Given the description of an element on the screen output the (x, y) to click on. 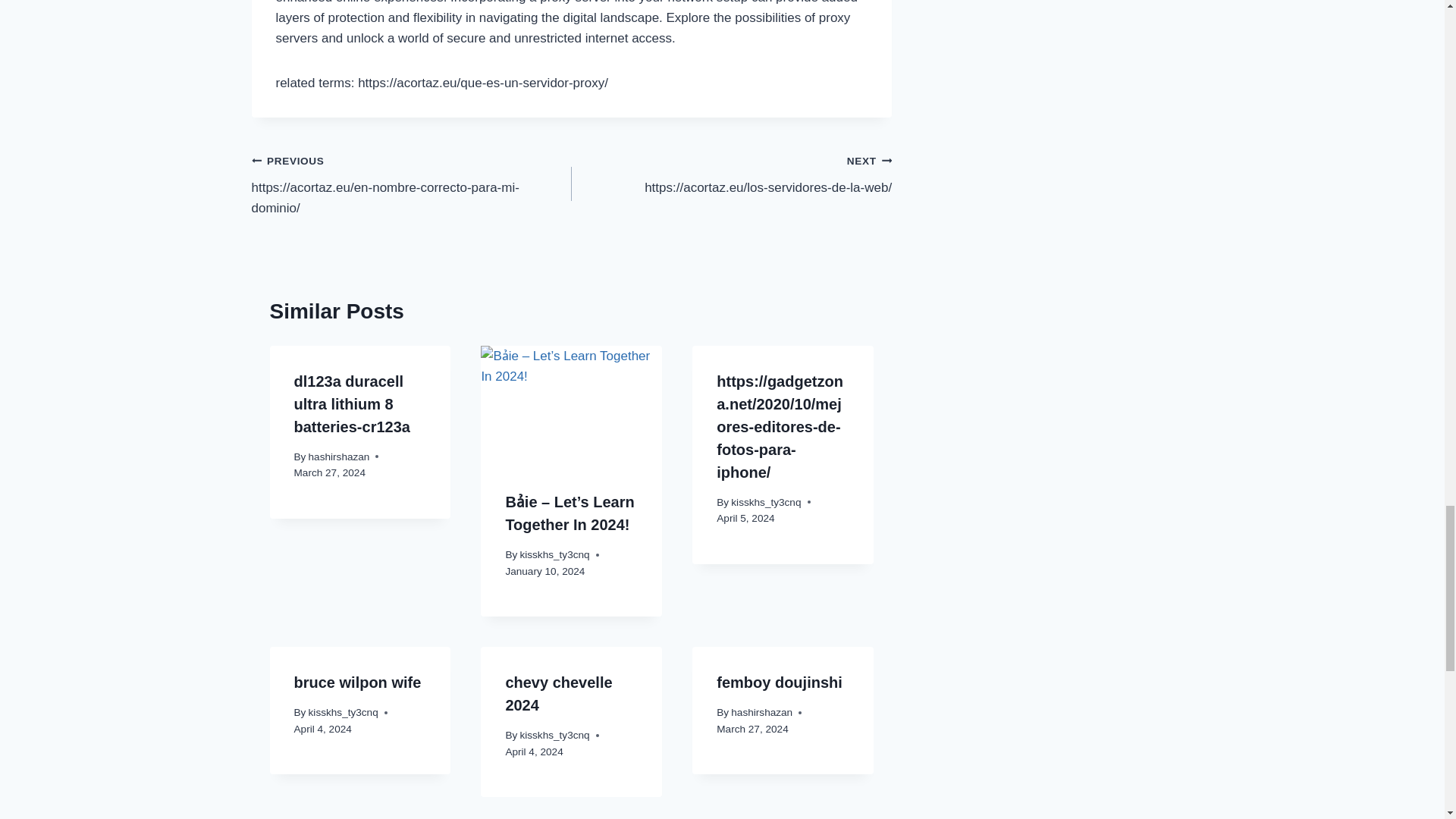
dl123a duracell ultra lithium 8 batteries-cr123a (352, 403)
hashirshazan (338, 456)
bruce wilpon wife (358, 682)
